Given the description of an element on the screen output the (x, y) to click on. 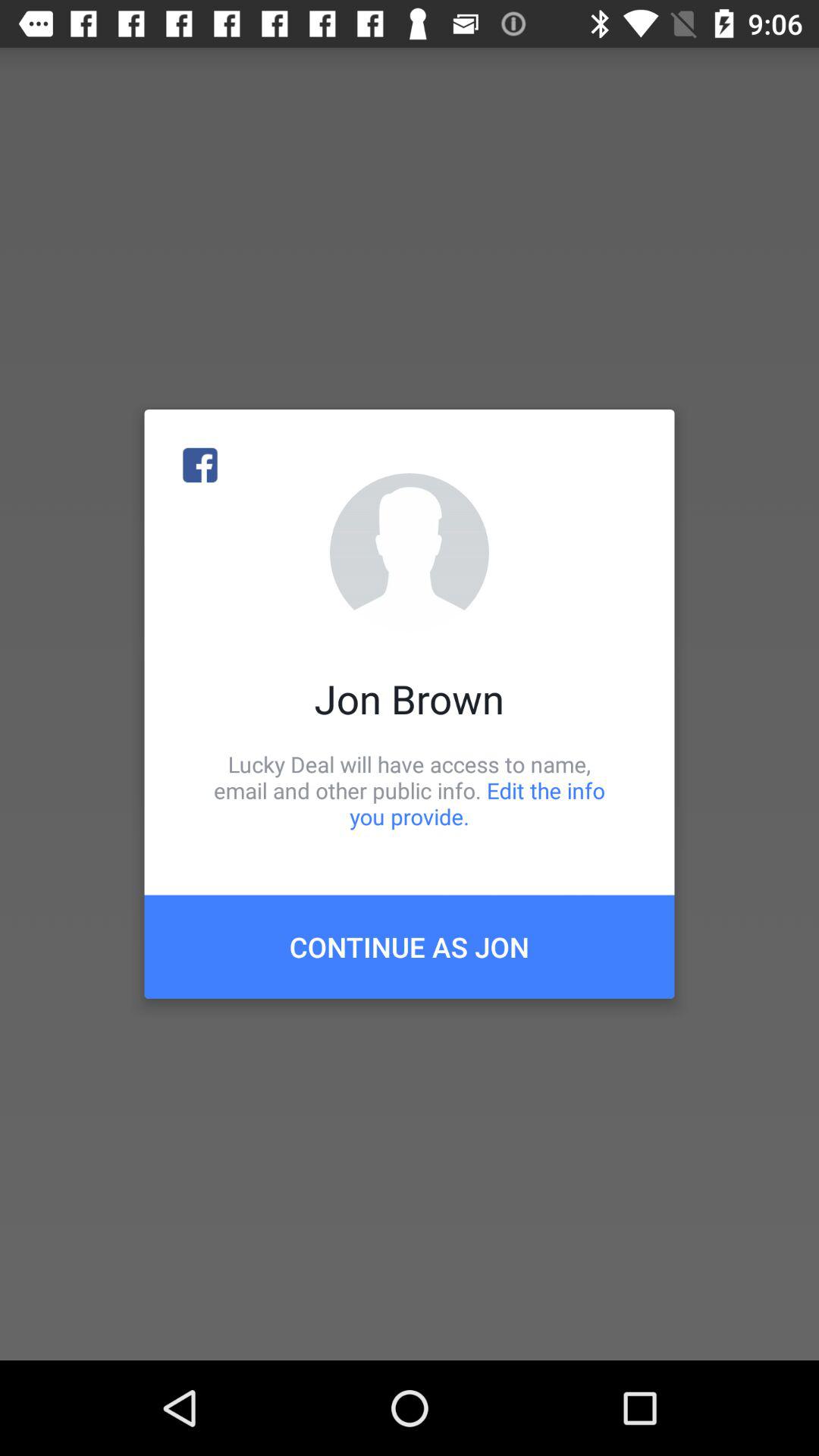
jump to the continue as jon (409, 946)
